Given the description of an element on the screen output the (x, y) to click on. 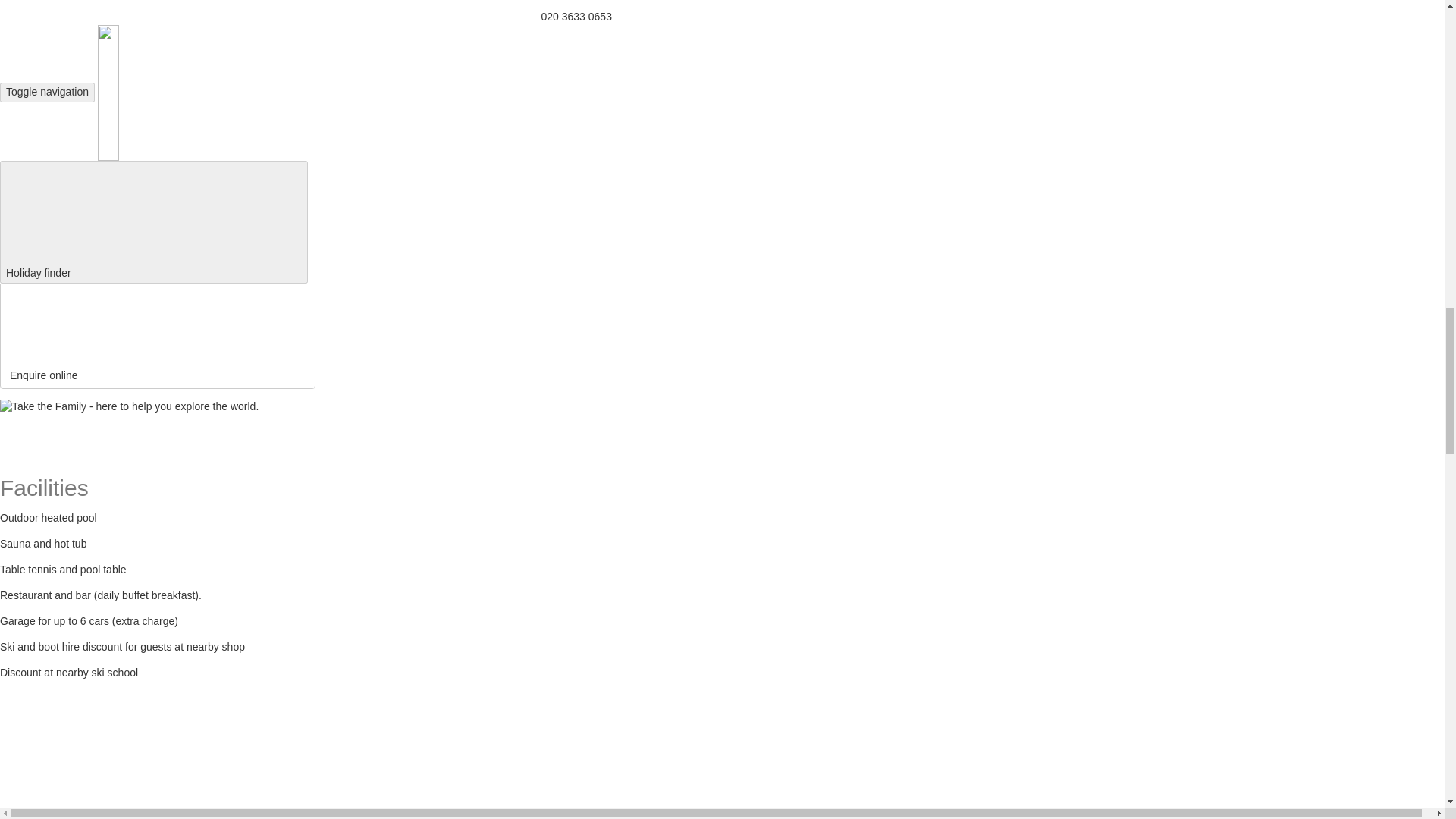
Take the Family - here to help you explore the world. (129, 406)
